Given the description of an element on the screen output the (x, y) to click on. 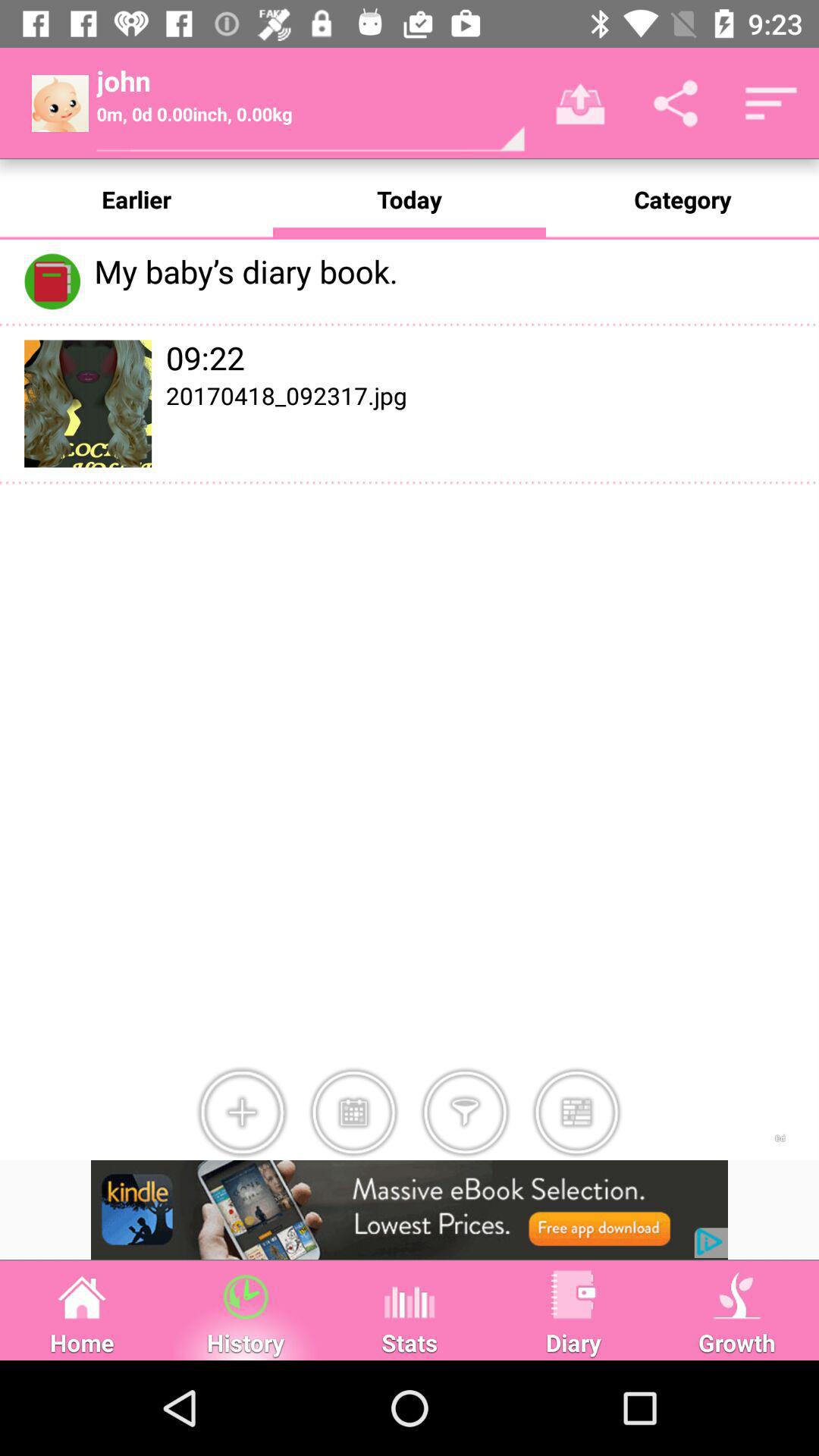
add item (242, 1112)
